Given the description of an element on the screen output the (x, y) to click on. 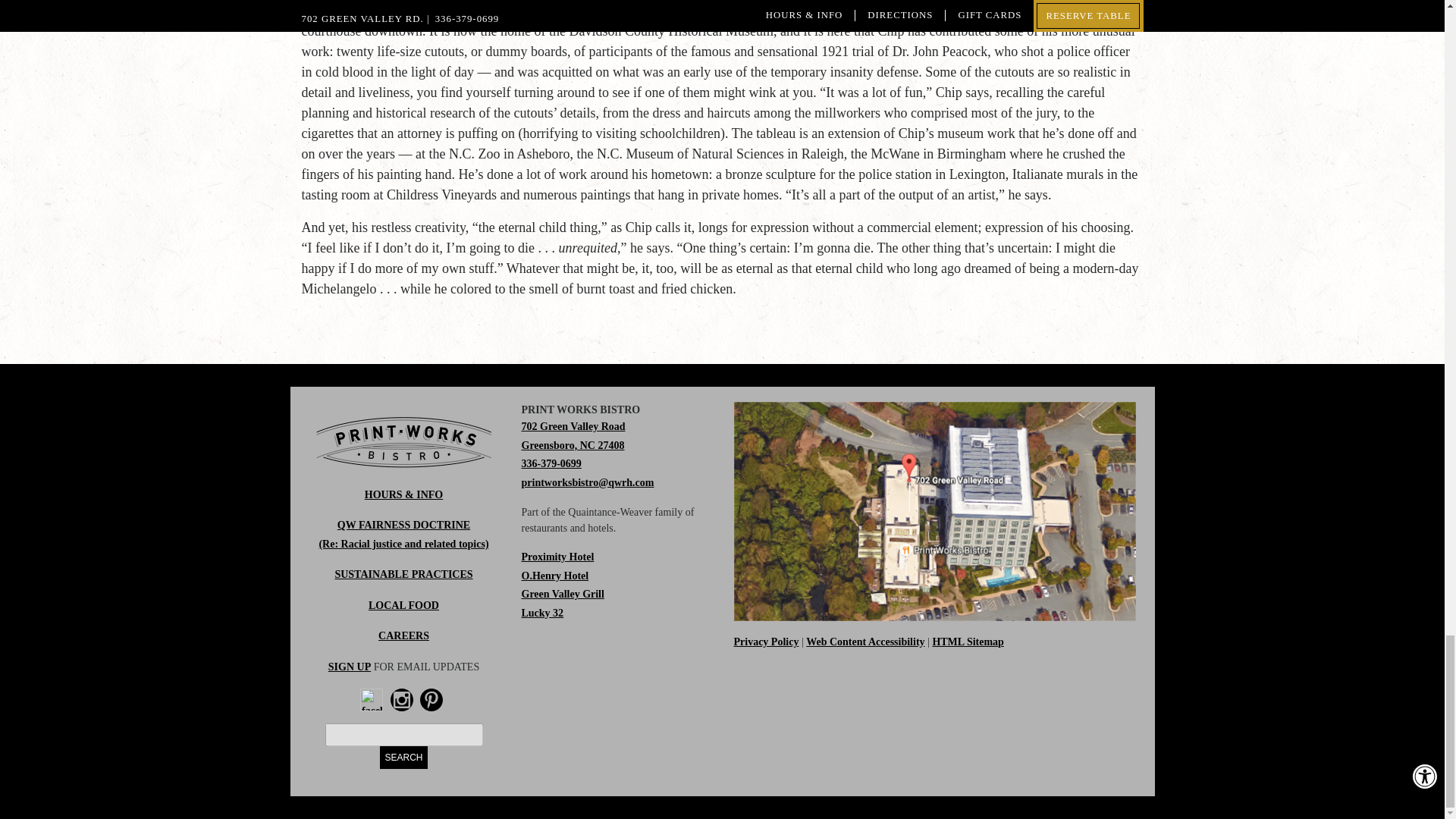
Learn about O.Henry Hotel (555, 575)
Learn about Lucky 32 (542, 612)
Learn about Green Valley Grill (562, 593)
Learn about Proximity Hotel (557, 556)
Print Works Bistro Privacy Policy (766, 641)
Learn about Web Content Accessibility (865, 641)
Print Works Bistro Location Google Map (573, 435)
Search (403, 757)
See HTML Sitemap (967, 641)
QW FAIRNESS DOCTRINE (403, 524)
